Given the description of an element on the screen output the (x, y) to click on. 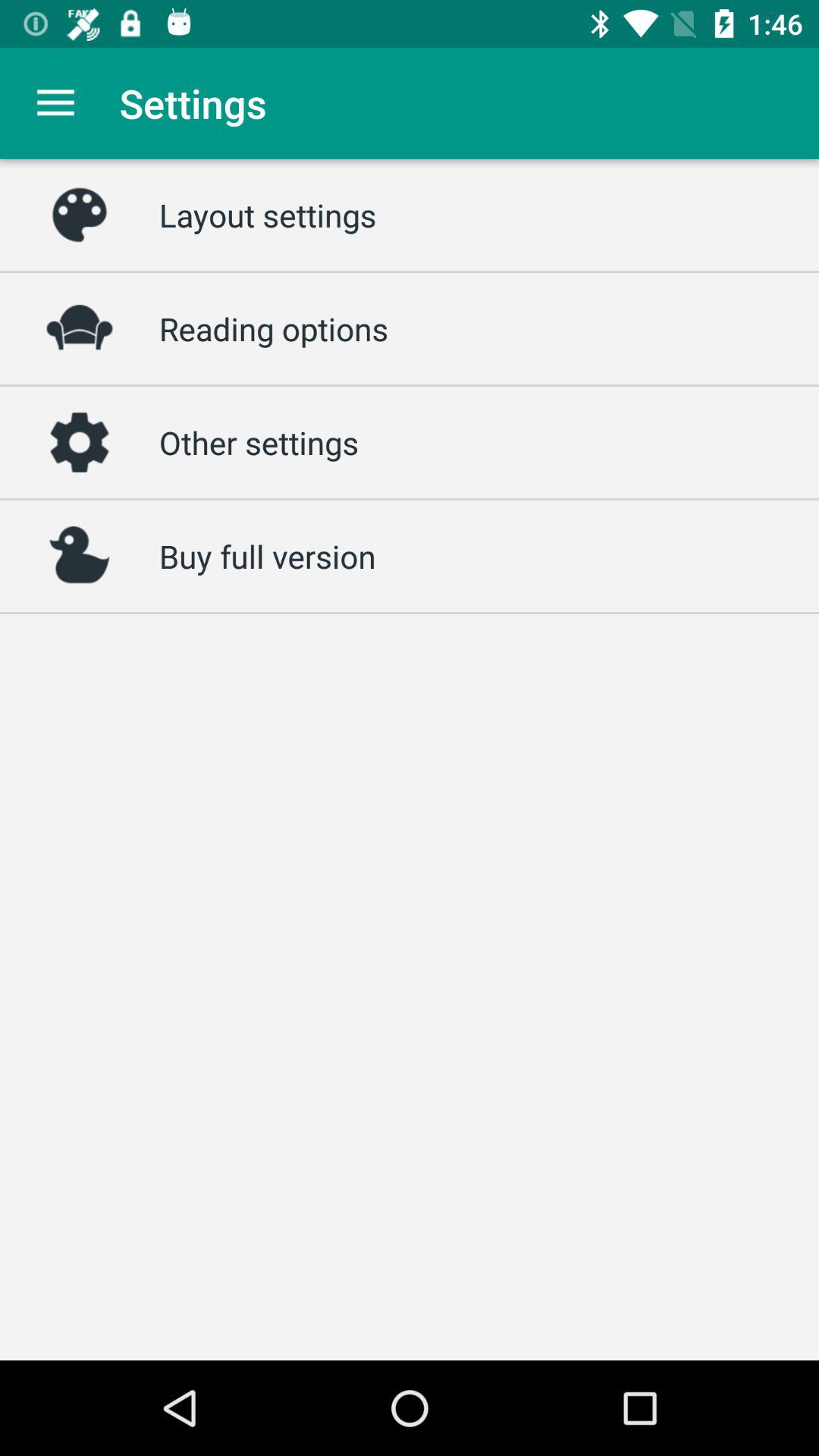
open other settings item (258, 442)
